Given the description of an element on the screen output the (x, y) to click on. 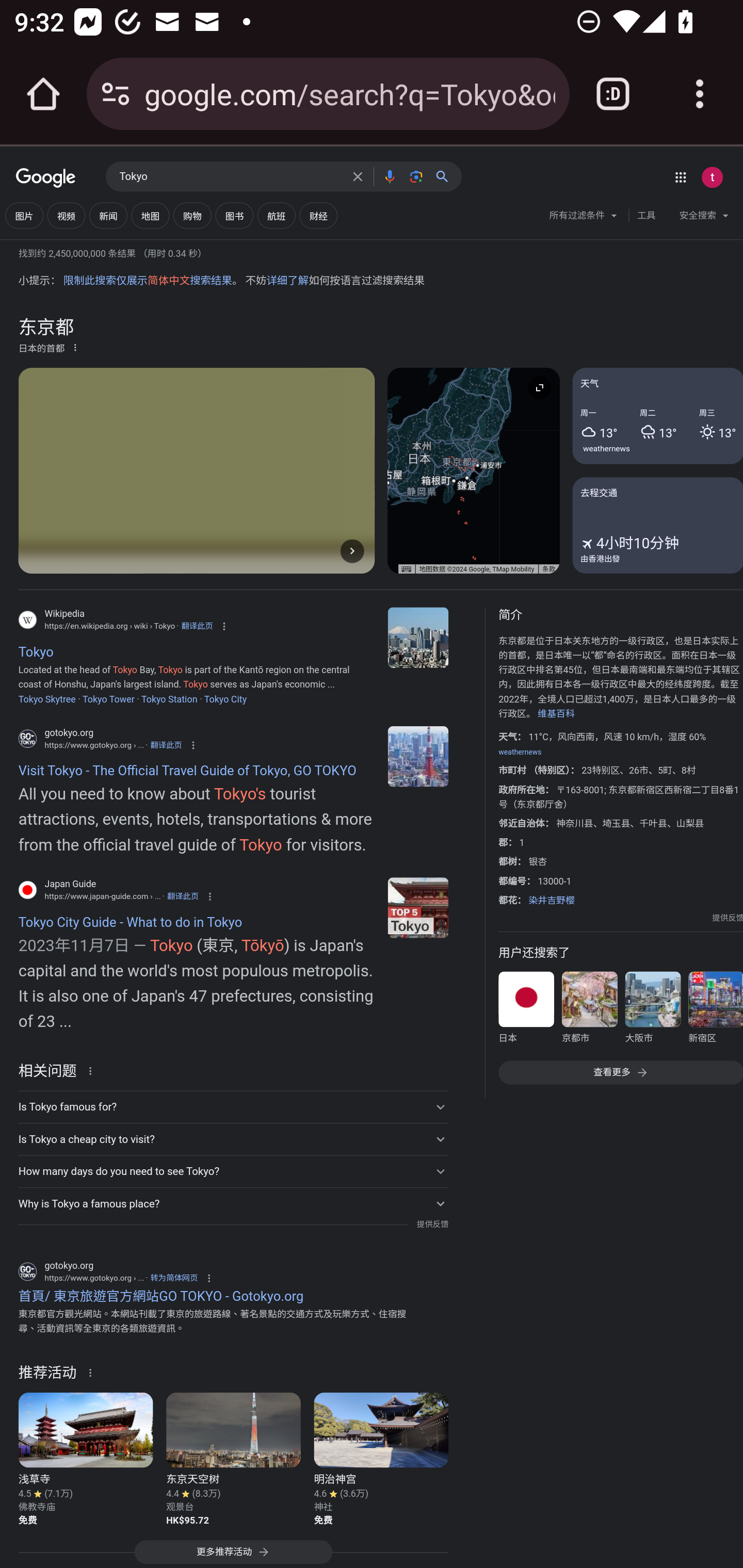
Open the home page (43, 93)
Connection is secure (115, 93)
Switch or close tabs (612, 93)
Customize and control Google Chrome (699, 93)
清除 (357, 176)
按语音搜索 (389, 176)
按图搜索 (415, 176)
搜索 (446, 176)
Google 应用 (680, 176)
Google 账号： test appium (testappium002@gmail.com) (712, 176)
Google (45, 178)
Tokyo (229, 177)
图片 (24, 215)
视频 (65, 215)
新闻 (107, 215)
地图 (149, 215)
购物 (191, 215)
图书 (234, 215)
航班 (276, 215)
财经 (318, 215)
所有过滤条件 (583, 217)
工具 (646, 215)
安全搜索 (703, 217)
限制此搜索仅展示简体中文搜索结果 限制此搜索仅展示 简体中文 搜索结果 (147, 280)
详细了解 (287, 280)
更多选项 (74, 347)
天气 周一 高温 13 度 周二 高温 13 度 周三 高温 13 度 (657, 415)
展开地图 (539, 386)
weathernews (606, 448)
去程交通 4小时10分钟 乘坐飞机 由香港出發 (657, 524)
下一张图片 (352, 550)
Tokyo (417, 636)
翻译此页 (196, 626)
Tokyo Skytree (46, 698)
Tokyo Tower (108, 698)
Tokyo Station (169, 698)
Tokyo City (225, 698)
维基百科 (556, 713)
index (417, 756)
翻译此页 (166, 744)
weathernews (519, 752)
e2164 (417, 906)
翻译此页 (182, 896)
染井吉野樱 (551, 899)
提供反馈 (727, 917)
日本 (526, 1010)
京都市 (588, 1010)
大阪市 (652, 1010)
新宿区 (715, 1010)
查看更多 查看更多 查看更多 (620, 1071)
关于这条结果的详细信息 (93, 1070)
Is Tokyo famous for? (232, 1105)
Is Tokyo a cheap city to visit? (232, 1138)
How many days do you need to see Tokyo? (232, 1170)
Why is Tokyo a famous place? (232, 1202)
提供反馈 (432, 1224)
转为简体网页 (174, 1277)
关于这条结果的详细信息 (93, 1372)
更多推荐活动 (232, 1553)
